Given the description of an element on the screen output the (x, y) to click on. 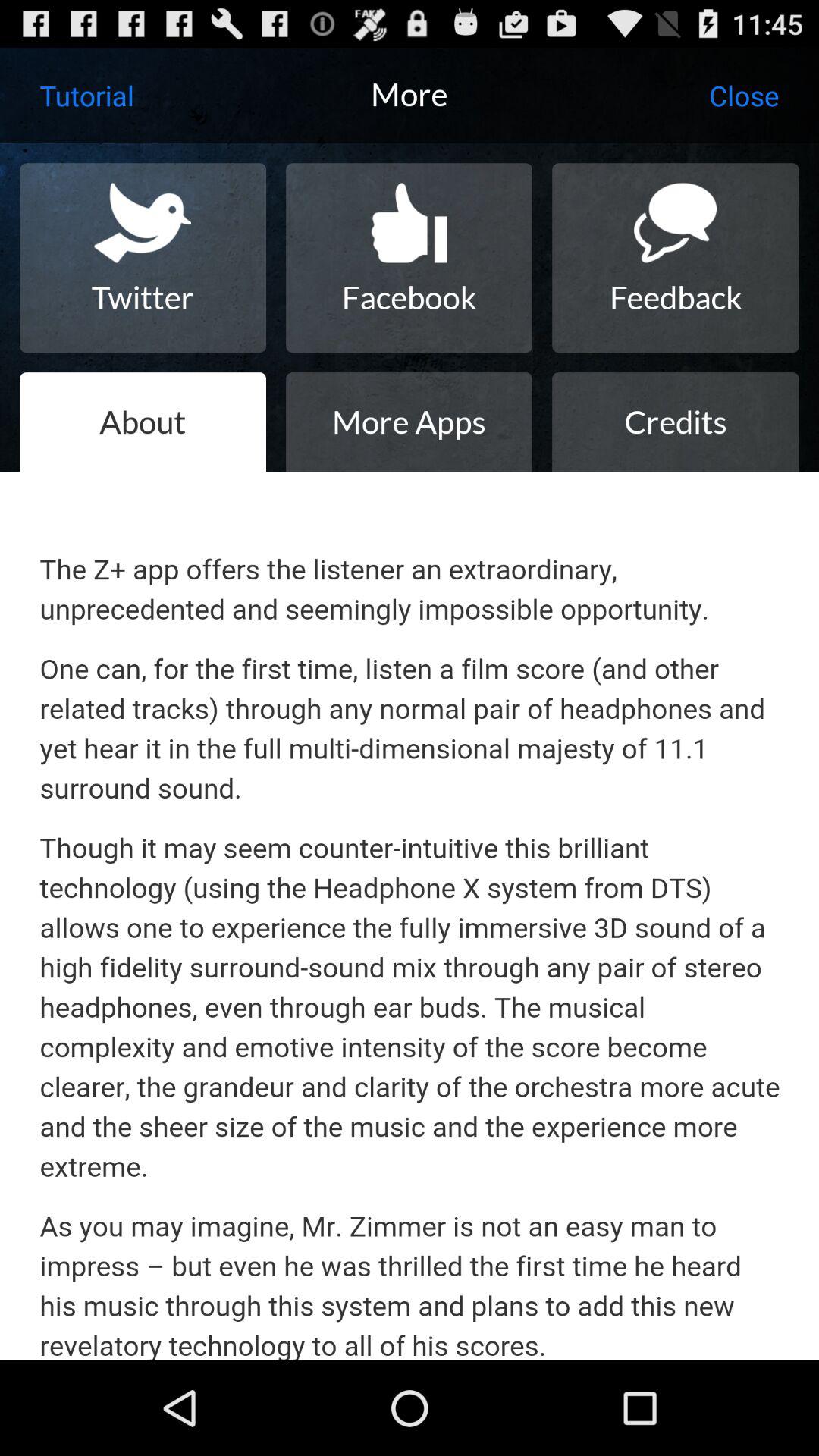
select the text (409, 916)
